Given the description of an element on the screen output the (x, y) to click on. 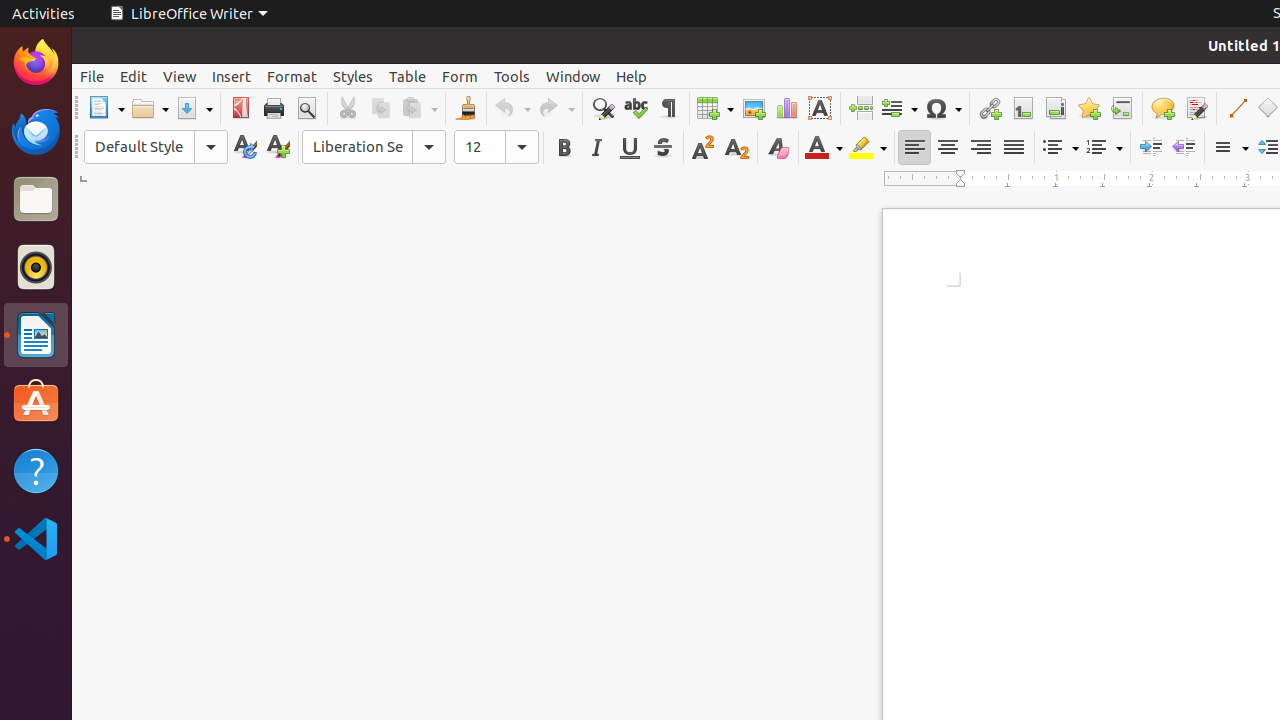
Ubuntu Software Element type: push-button (36, 402)
PDF Element type: push-button (240, 108)
Table Element type: push-button (715, 108)
Formatting Marks Element type: toggle-button (668, 108)
Comment Element type: push-button (1162, 108)
